Given the description of an element on the screen output the (x, y) to click on. 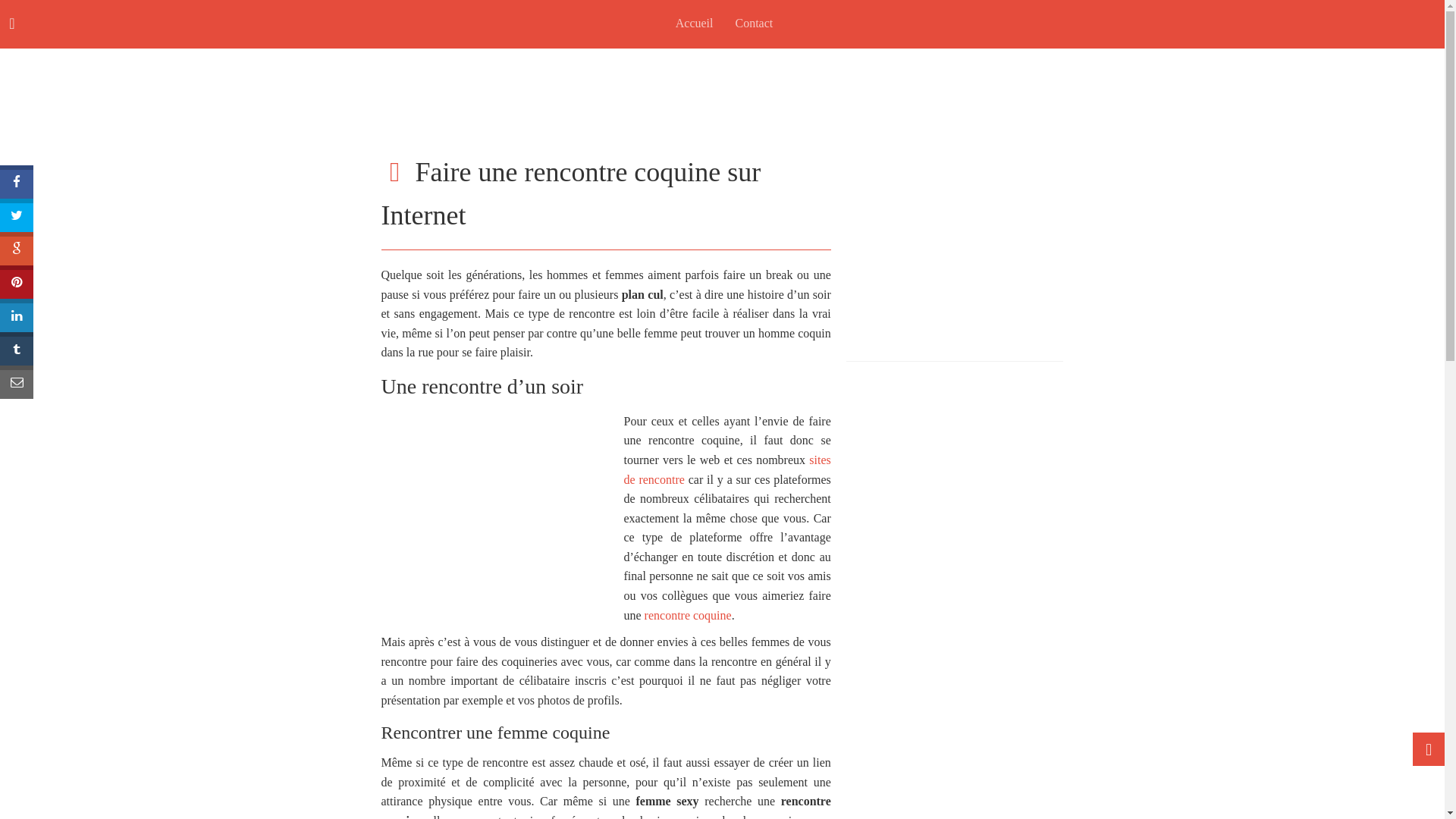
coquine Element type: hover (494, 504)
Contact Element type: text (751, 24)
Accueil Element type: text (692, 24)
sites de rencontre Element type: text (726, 469)
Advertisement Element type: hover (959, 237)
Remonter Element type: hover (1428, 748)
Advertisement Element type: hover (721, 84)
rencontre coquine Element type: text (687, 614)
